Given the description of an element on the screen output the (x, y) to click on. 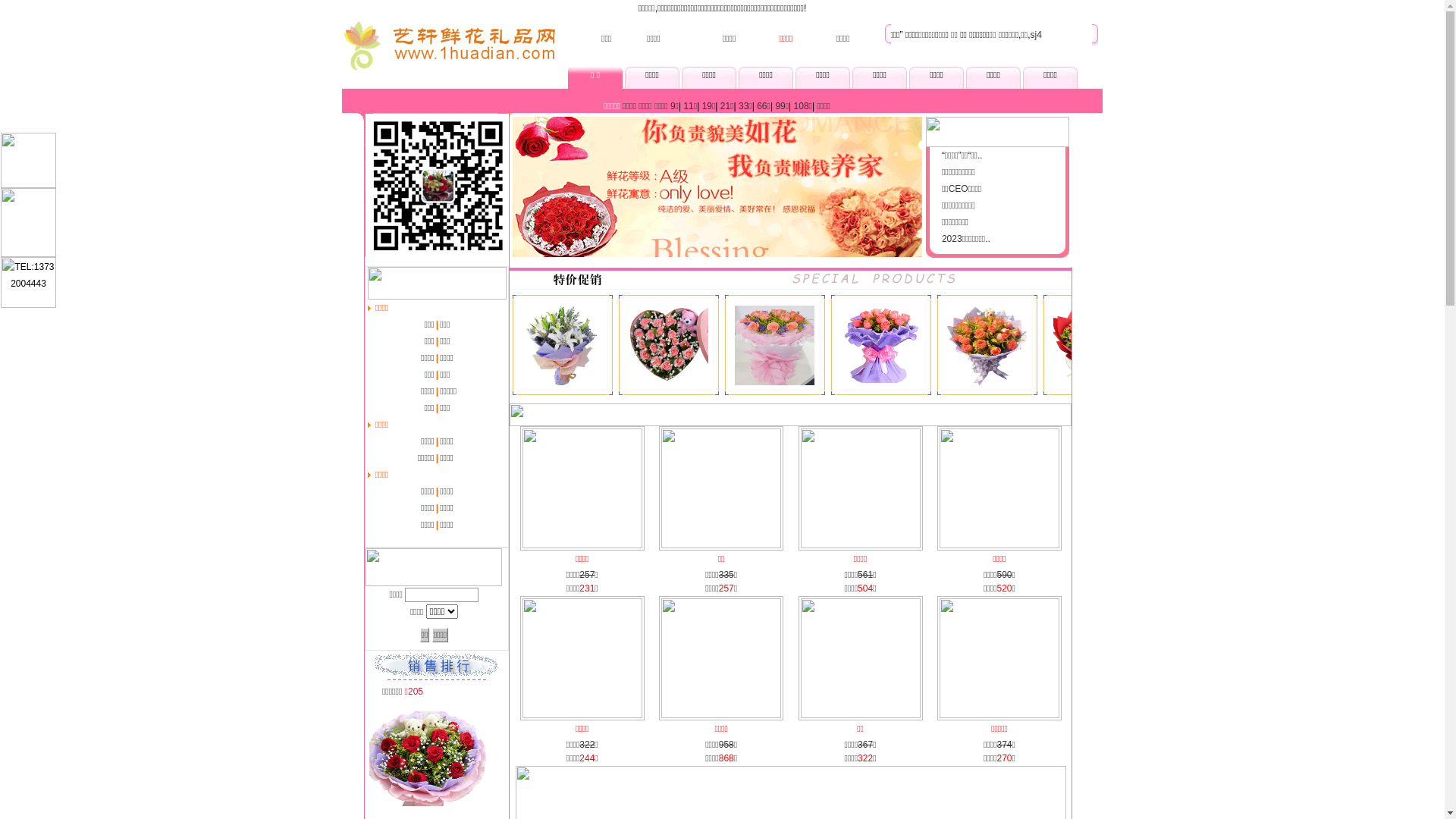
TEL:13732004443 Element type: hover (28, 282)
sj4 Element type: text (887, 34)
QQ:1401898244 Element type: hover (28, 184)
